Given the description of an element on the screen output the (x, y) to click on. 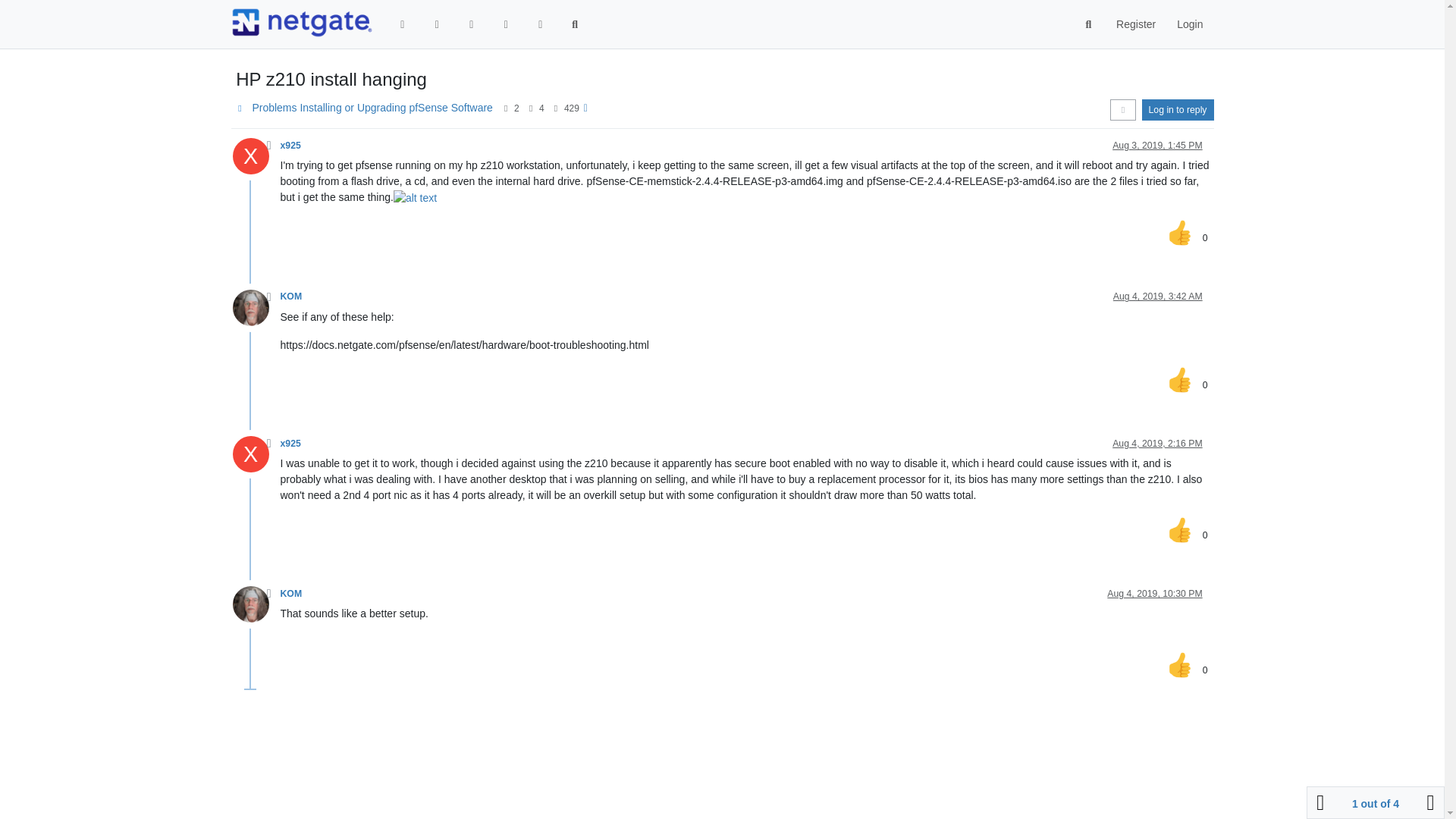
Recent (437, 24)
Users (539, 24)
Aug 3, 2019, 1:45 PM (1157, 145)
Login (1189, 24)
Search (574, 24)
Register (1135, 24)
Tags (471, 24)
Search (1088, 24)
Categories (402, 24)
X (255, 159)
